Given the description of an element on the screen output the (x, y) to click on. 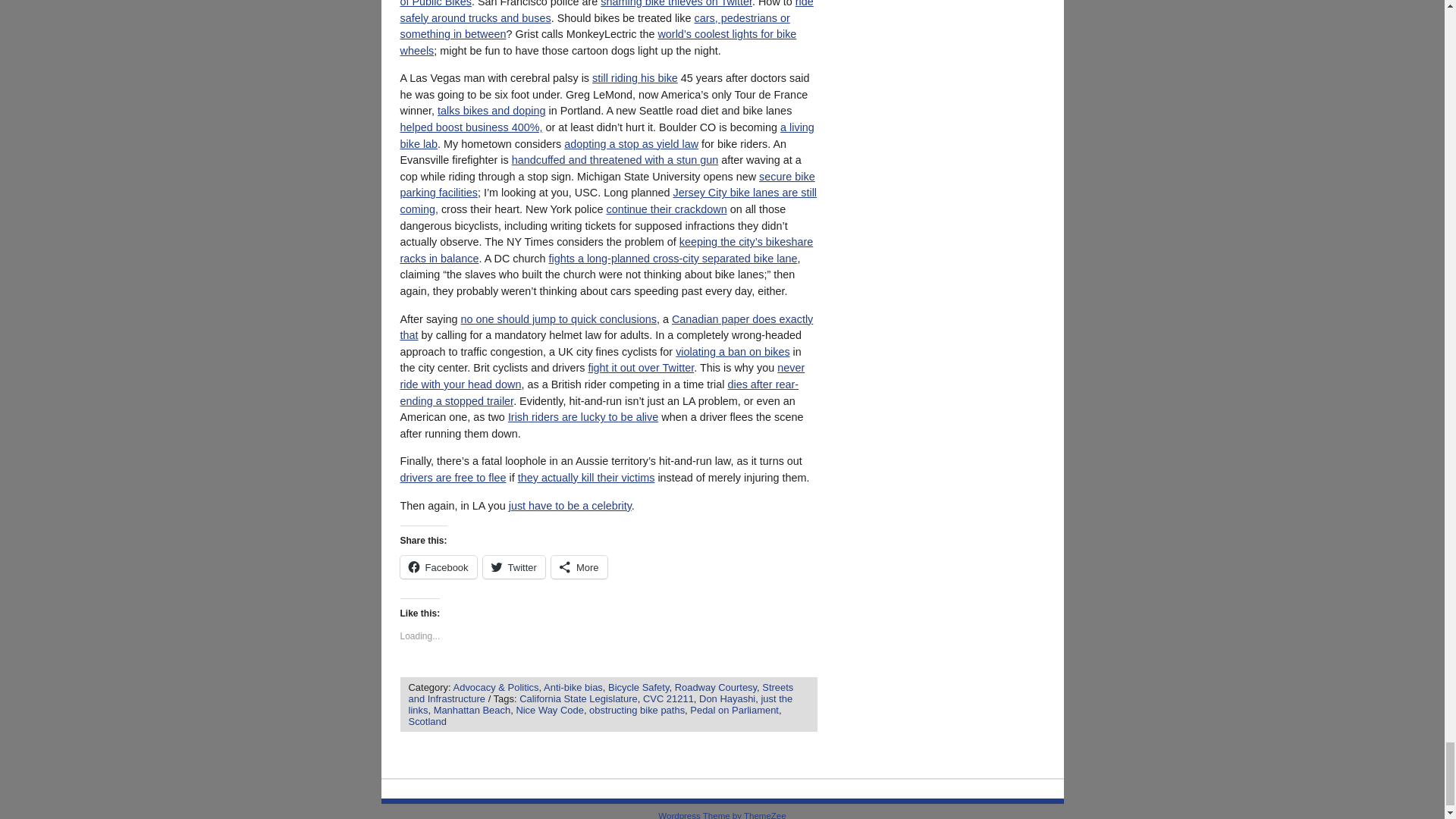
Click to share on Facebook (438, 567)
Click to share on Twitter (513, 567)
